Given the description of an element on the screen output the (x, y) to click on. 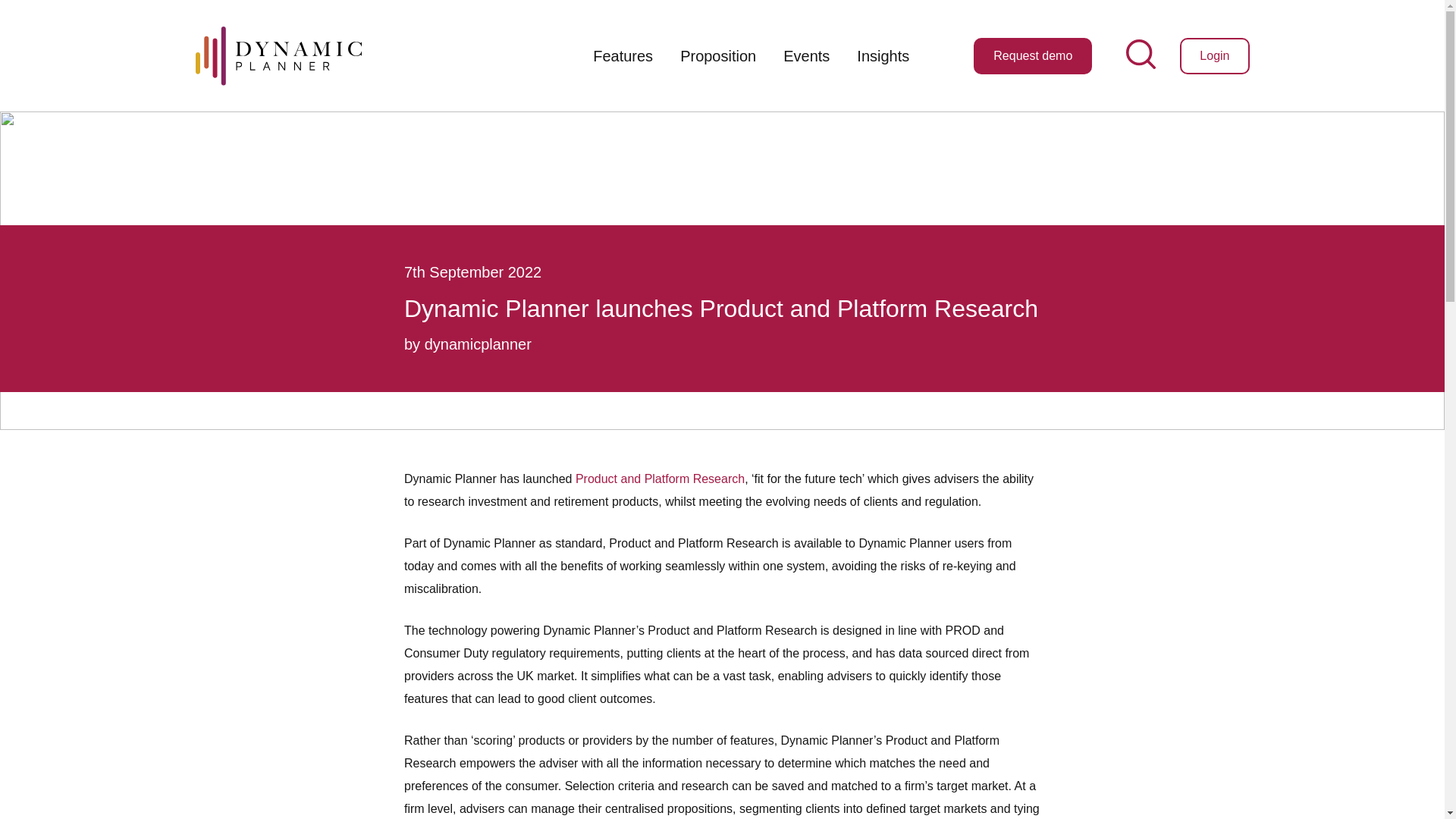
Features (622, 55)
Dynamic Planner (278, 55)
Events (806, 55)
Product and Platform Research (659, 478)
Proposition (718, 55)
